Given the description of an element on the screen output the (x, y) to click on. 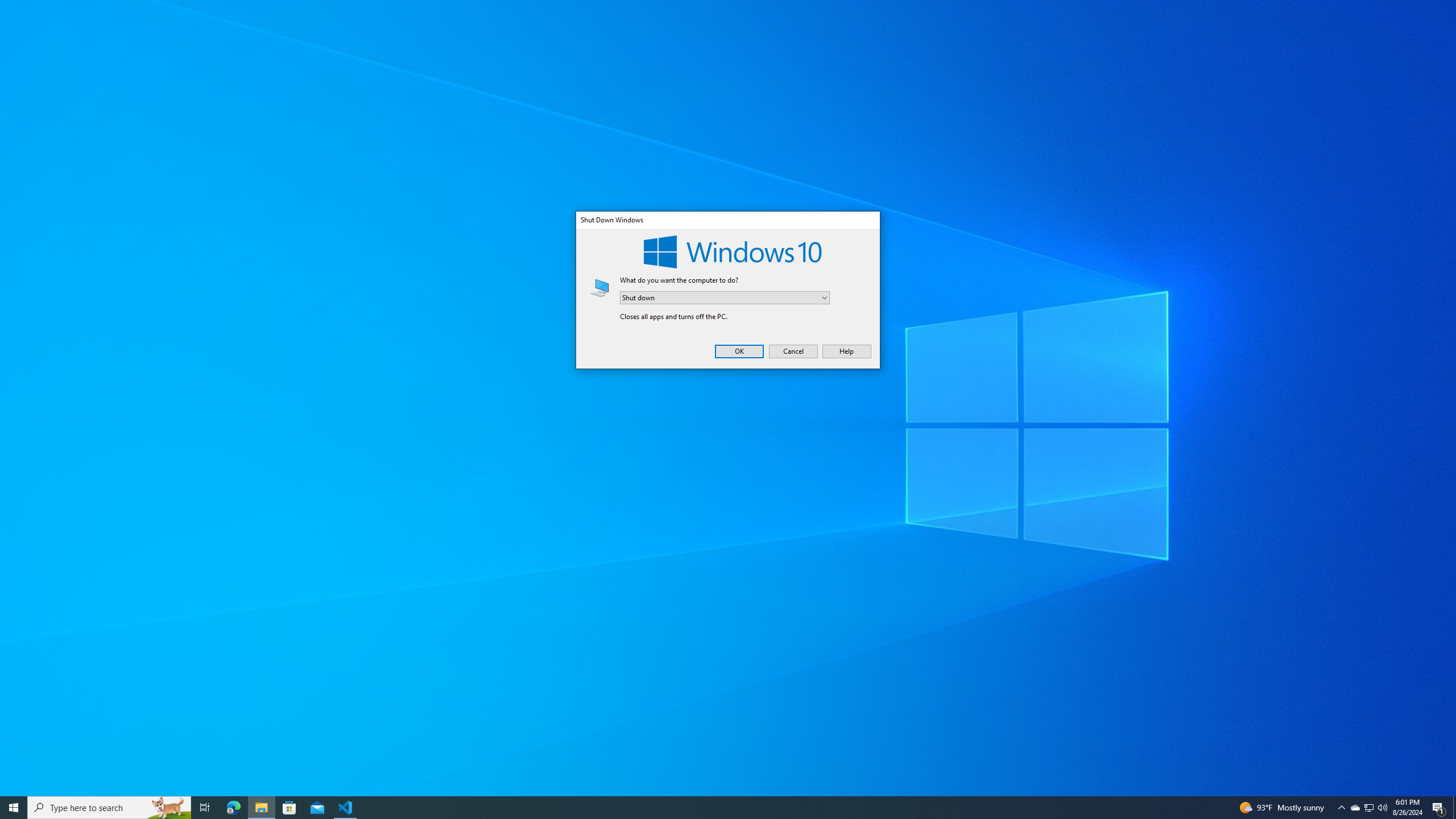
Visual Studio Code - 1 running window (345, 807)
What do you want the computer to do? (724, 297)
Show desktop (1355, 807)
Cancel (1454, 807)
Notification Chevron (793, 350)
Task View (1341, 807)
Microsoft Edge (204, 807)
Search highlights icon opens search home window (233, 807)
